Given the description of an element on the screen output the (x, y) to click on. 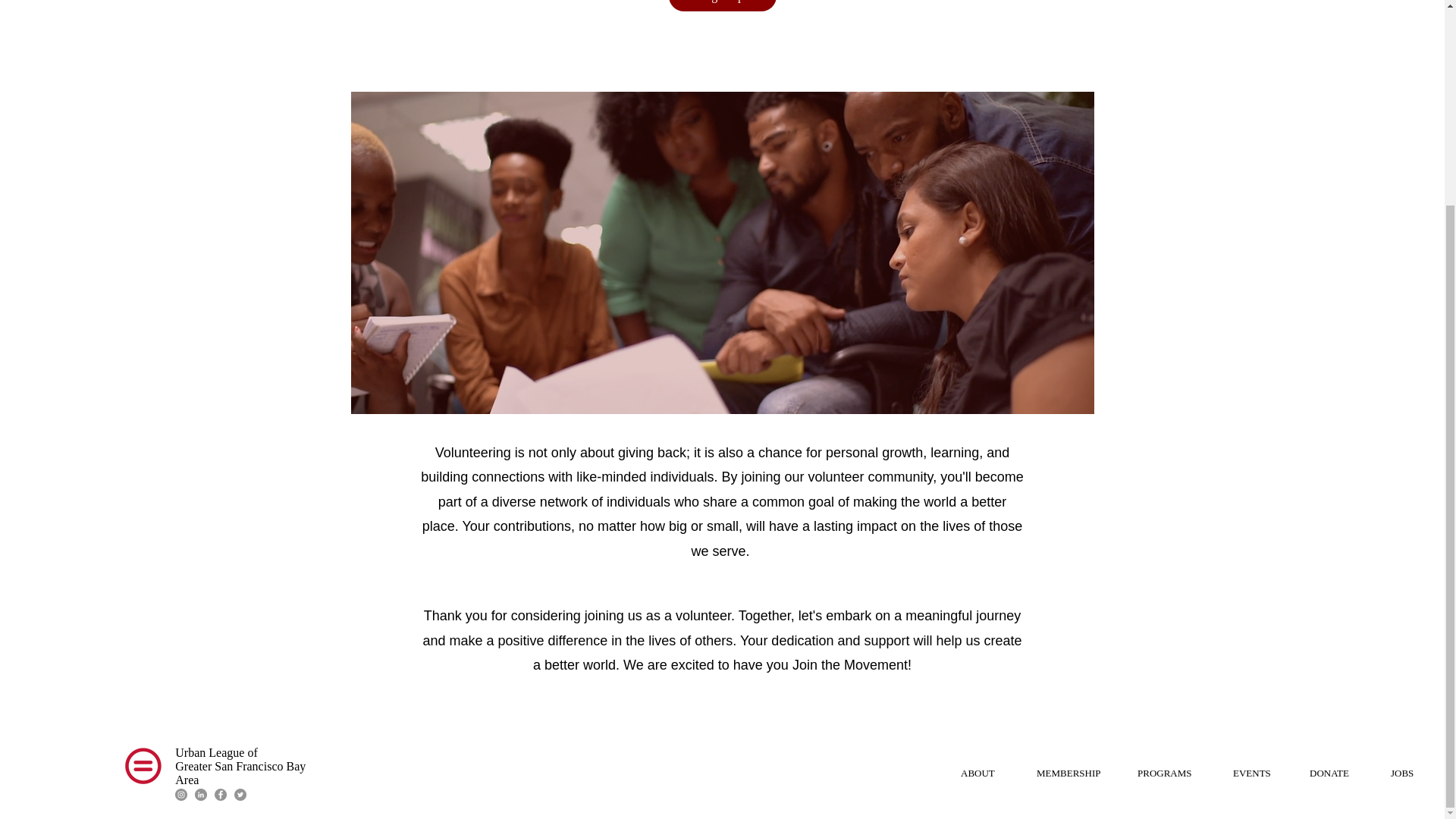
Sign Up (722, 5)
EVENTS (1259, 773)
Urban League of (215, 752)
MEMBERSHIP (1075, 773)
ABOUT (987, 773)
Greater San Francisco Bay Area (239, 773)
PROGRAMS (1173, 773)
DONATE (1338, 773)
